Given the description of an element on the screen output the (x, y) to click on. 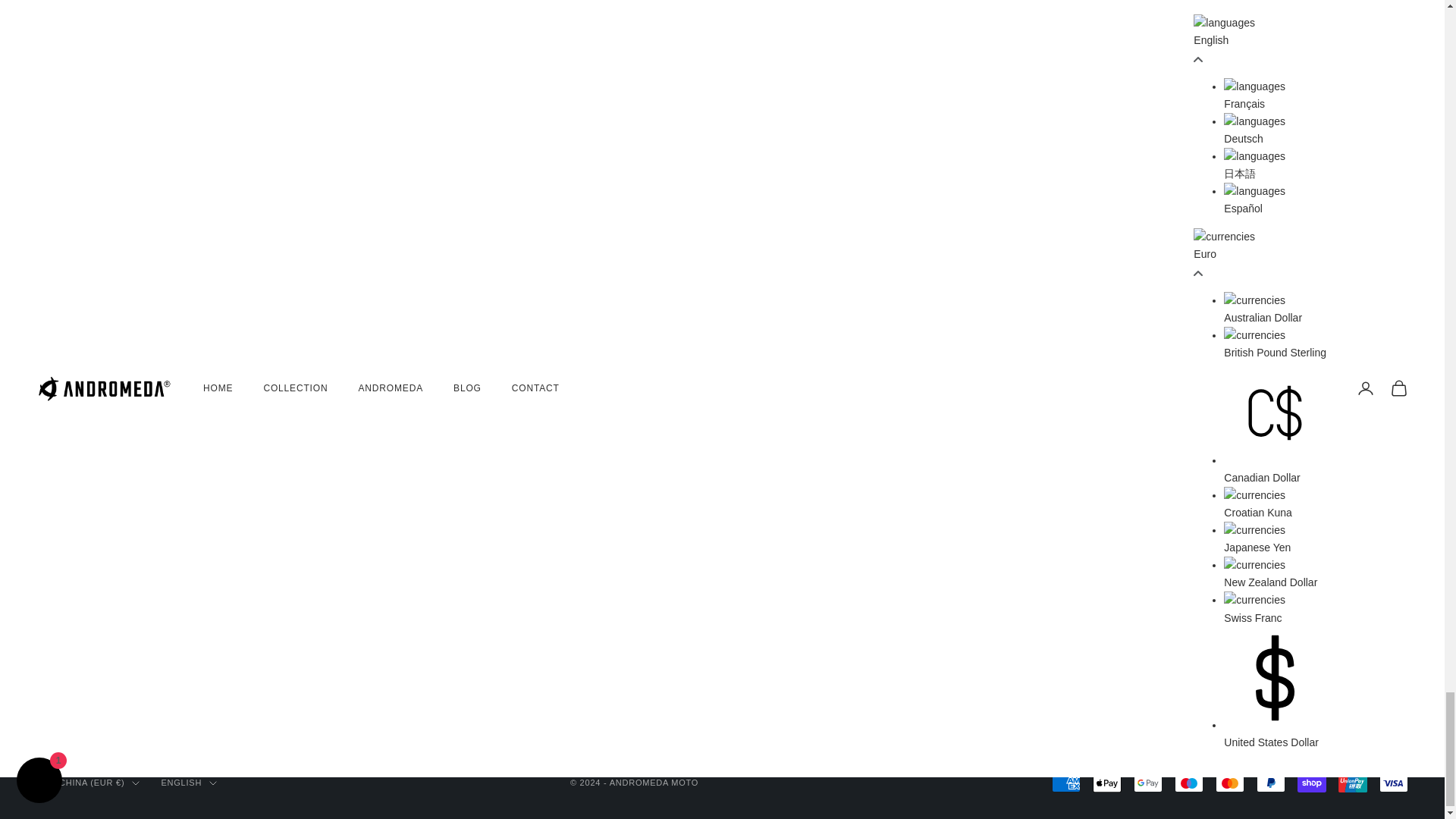
Store (1172, 384)
